Given the description of an element on the screen output the (x, y) to click on. 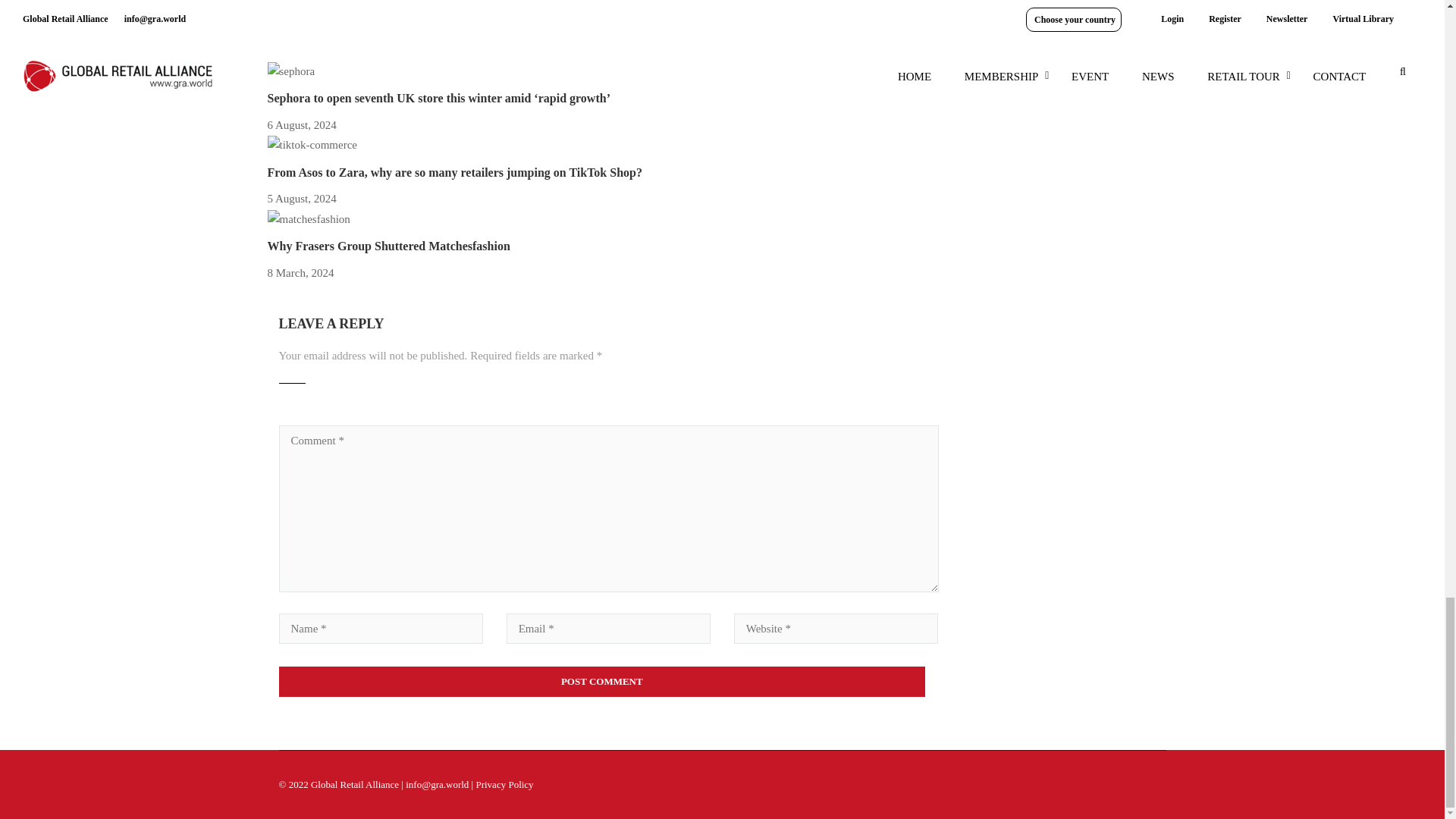
matchesfashion (307, 219)
sephora (290, 71)
Post Comment (602, 681)
Why Frasers Group Shuttered Matchesfashion (387, 245)
tiktok-commerce (311, 145)
